Given the description of an element on the screen output the (x, y) to click on. 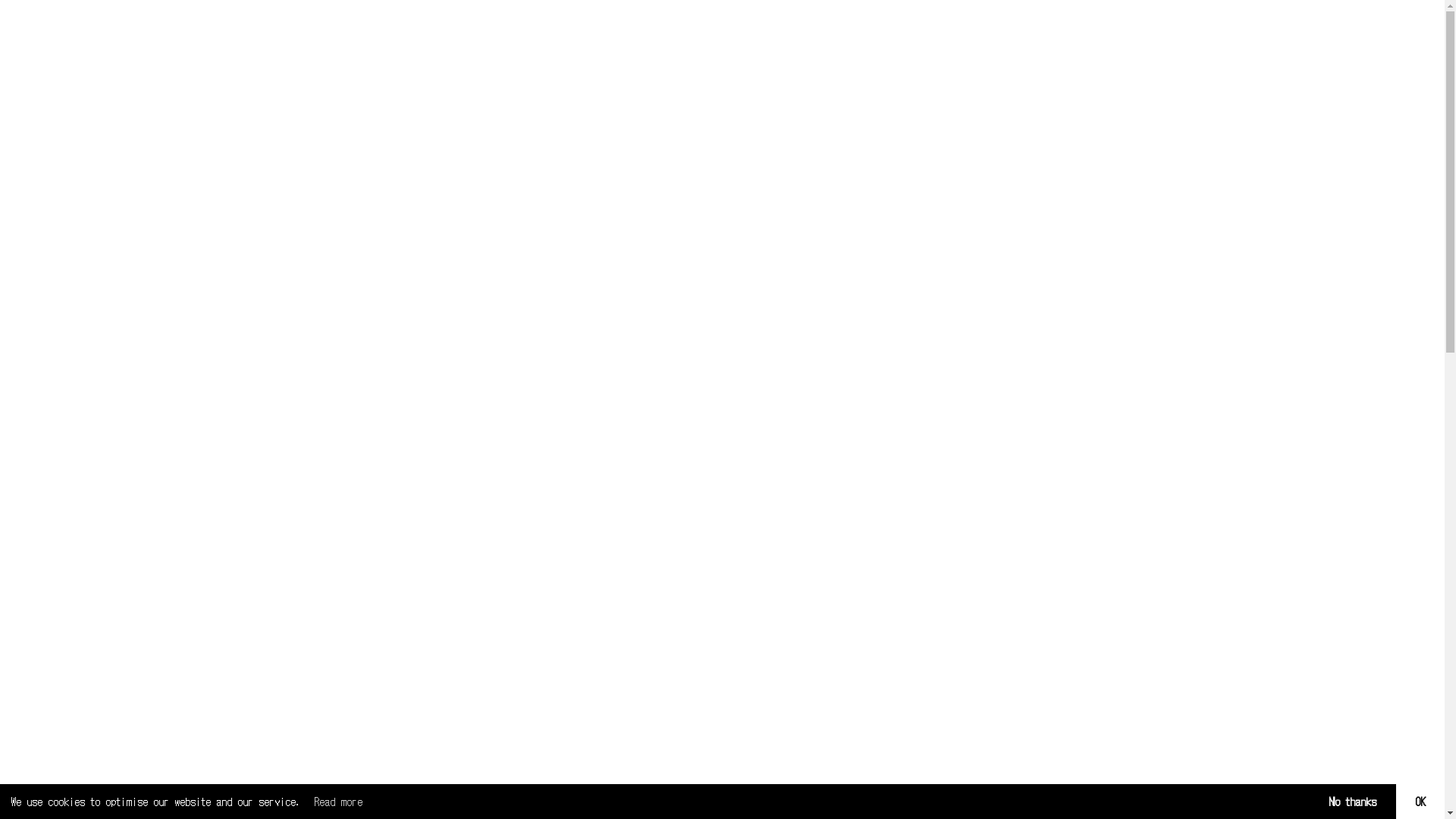
Read more Element type: text (338, 801)
Skip to primary navigation Element type: text (0, 0)
3am Recordings Element type: text (98, 13)
3am Recordings Element type: text (98, 117)
About Element type: text (18, 157)
About Element type: text (18, 92)
